Given the description of an element on the screen output the (x, y) to click on. 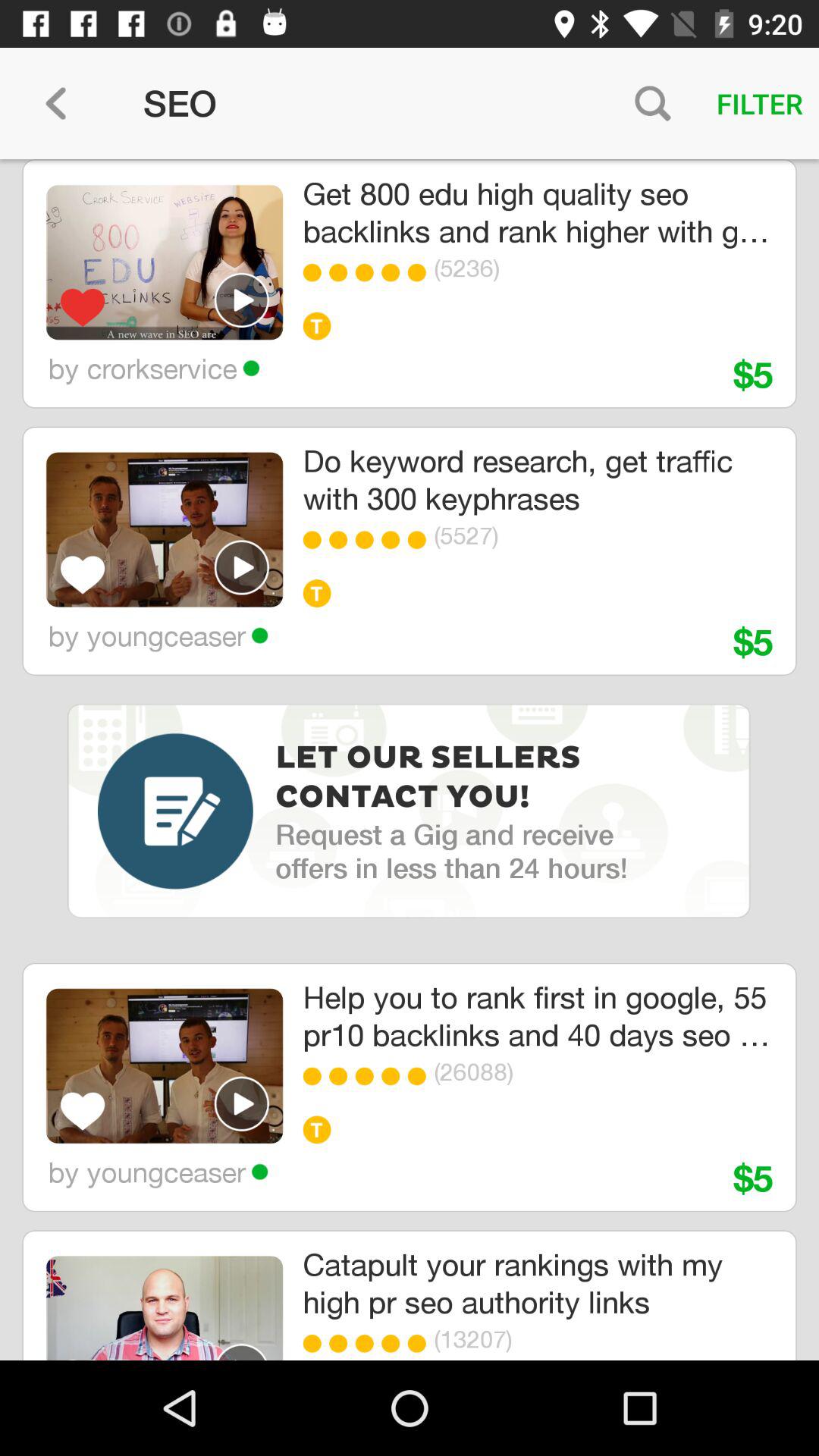
open icon below do keyword research item (316, 539)
